Given the description of an element on the screen output the (x, y) to click on. 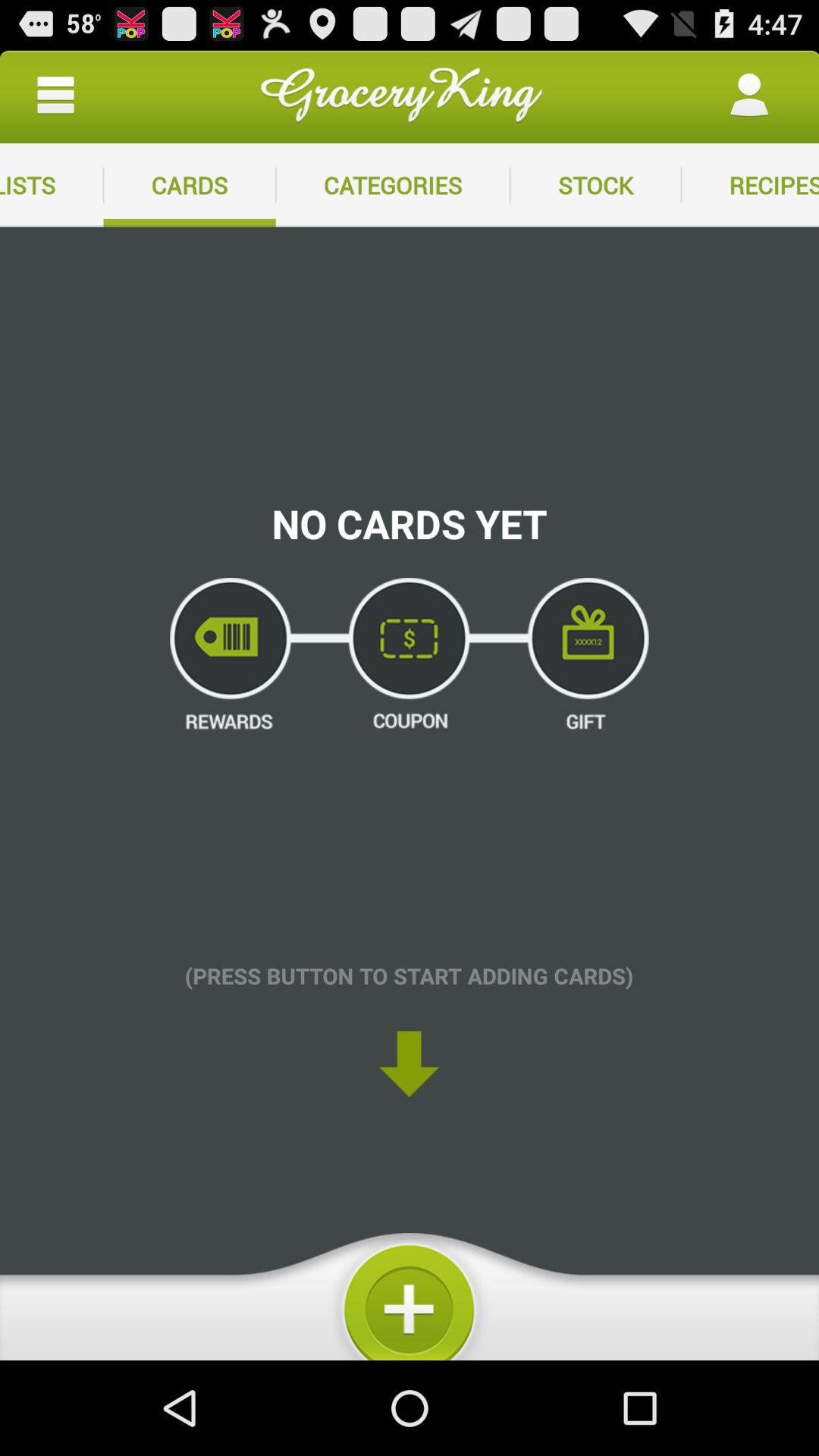
tap the icon next to stock (392, 184)
